Given the description of an element on the screen output the (x, y) to click on. 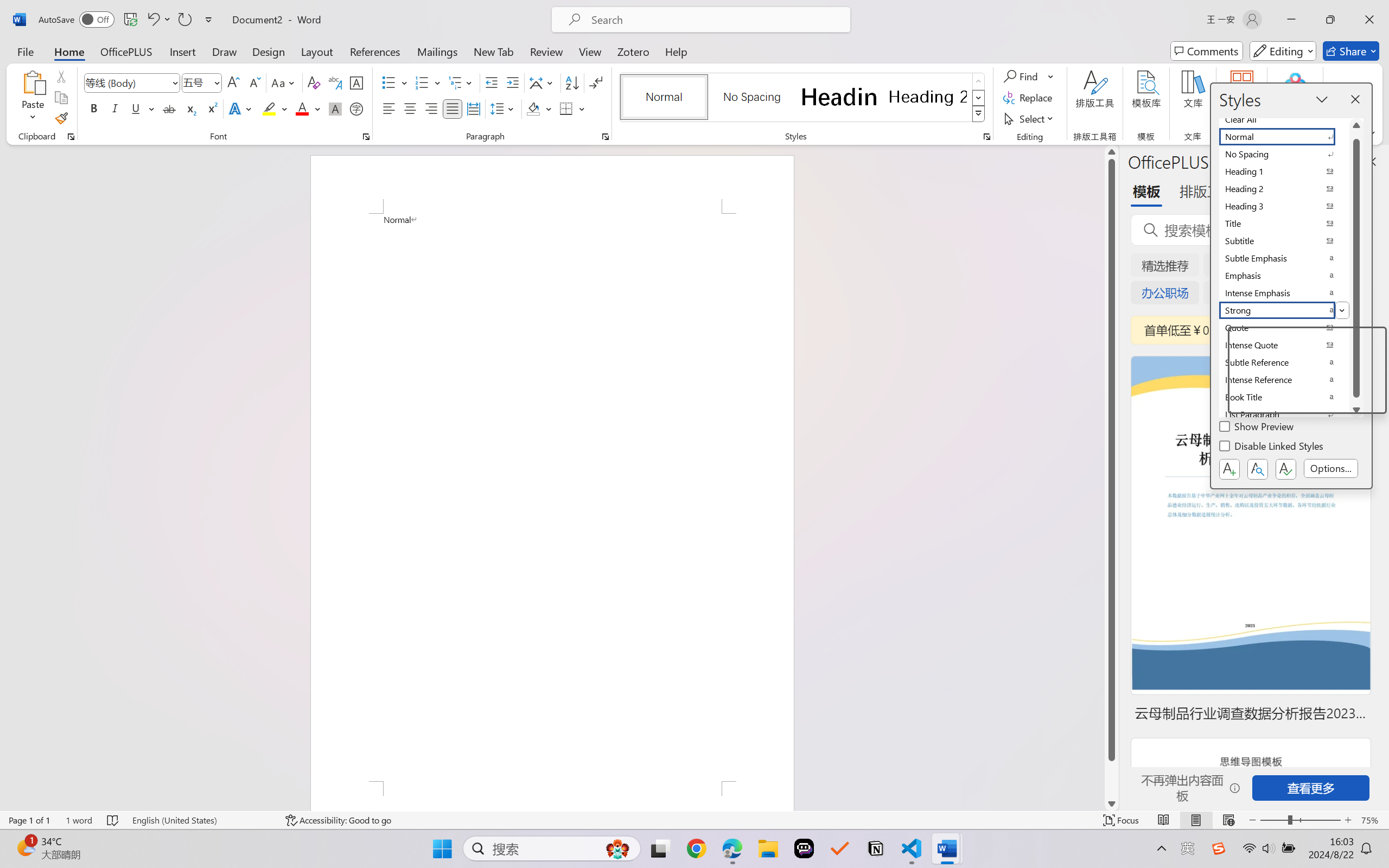
Word Count 1 word (78, 819)
Layout (316, 51)
Task Pane Options (1338, 161)
Home (69, 51)
Center (409, 108)
Font Color (308, 108)
Find (1022, 75)
File Tab (24, 51)
Clear Formatting (313, 82)
Customize Quick Access Toolbar (208, 19)
Font (132, 82)
Page Number Page 1 of 1 (29, 819)
